Given the description of an element on the screen output the (x, y) to click on. 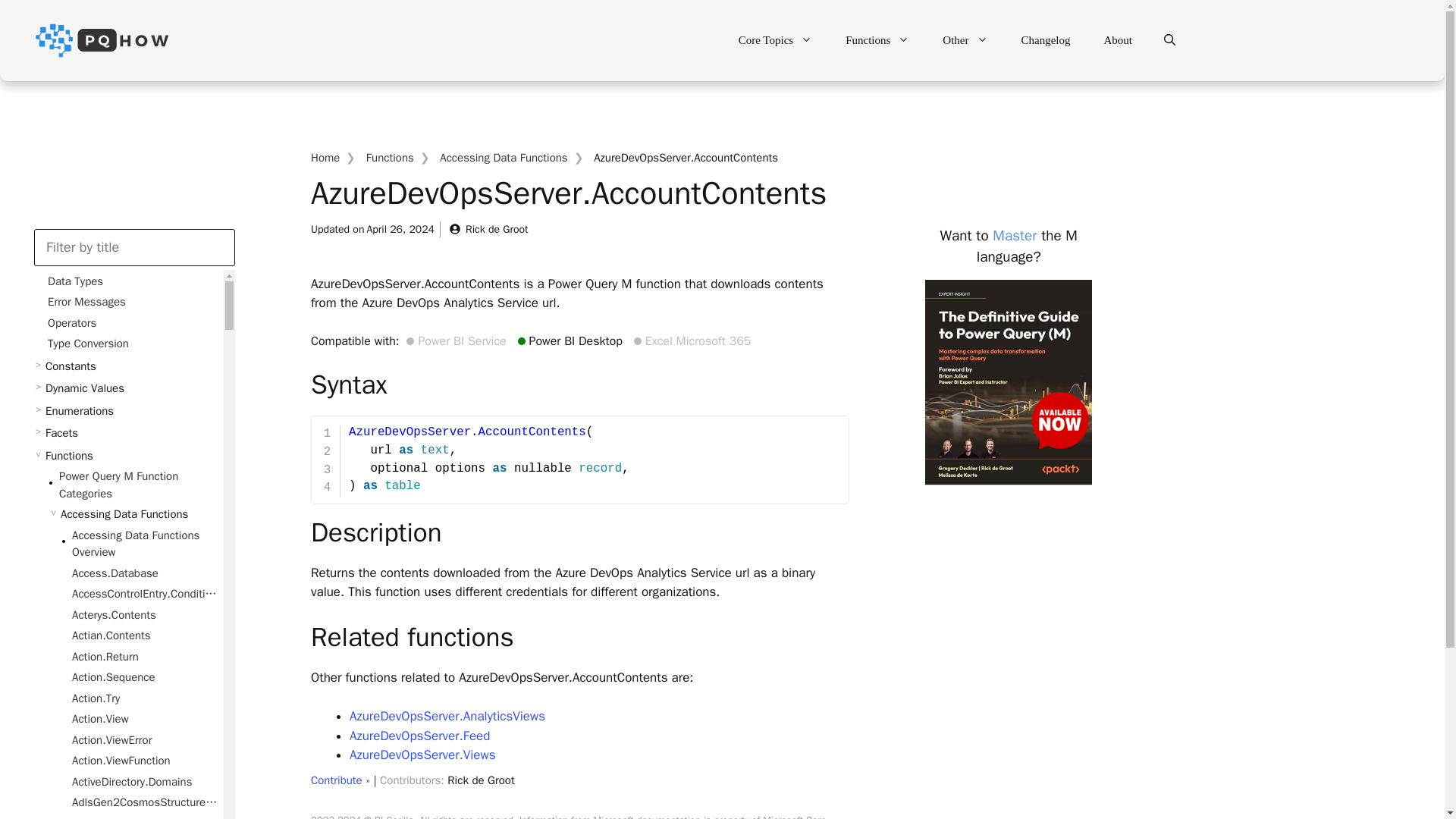
Changelog (1045, 40)
Core Topics (775, 40)
Rick de Groot (488, 229)
Other (965, 40)
Functions (876, 40)
